Given the description of an element on the screen output the (x, y) to click on. 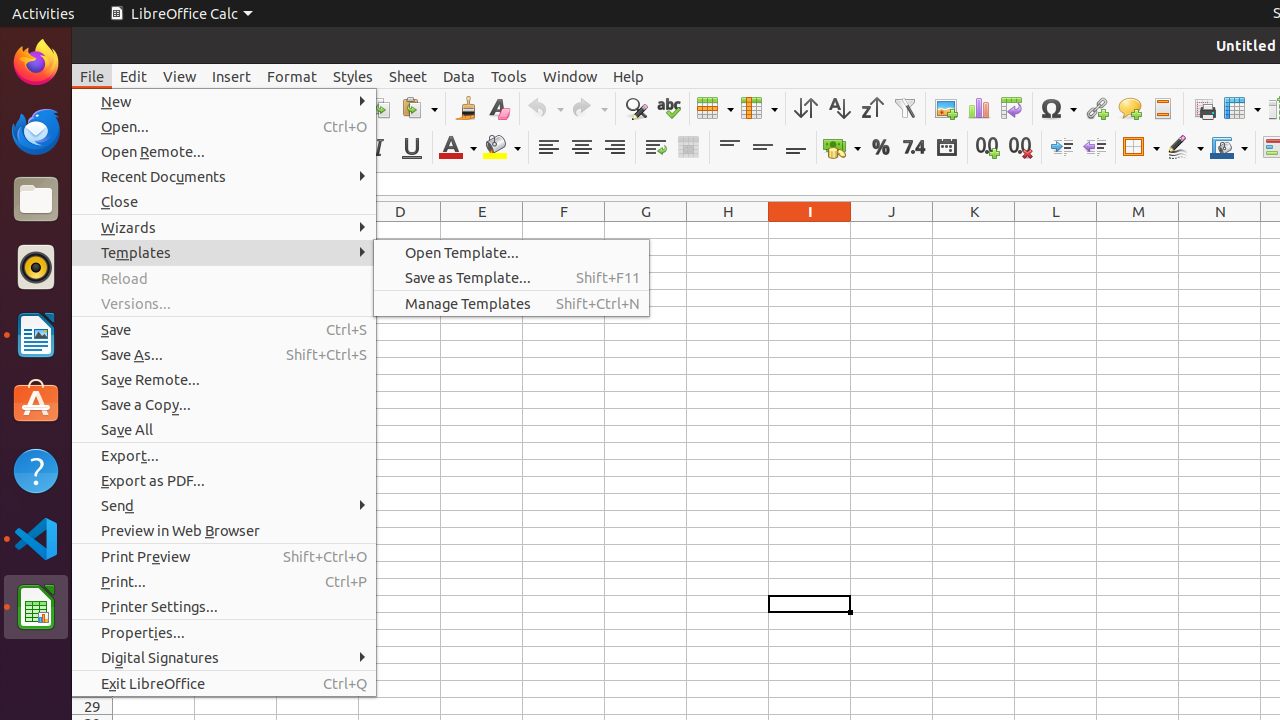
Hyperlink Element type: toggle-button (1096, 108)
Number Element type: push-button (913, 147)
Edit Element type: menu (133, 76)
